Given the description of an element on the screen output the (x, y) to click on. 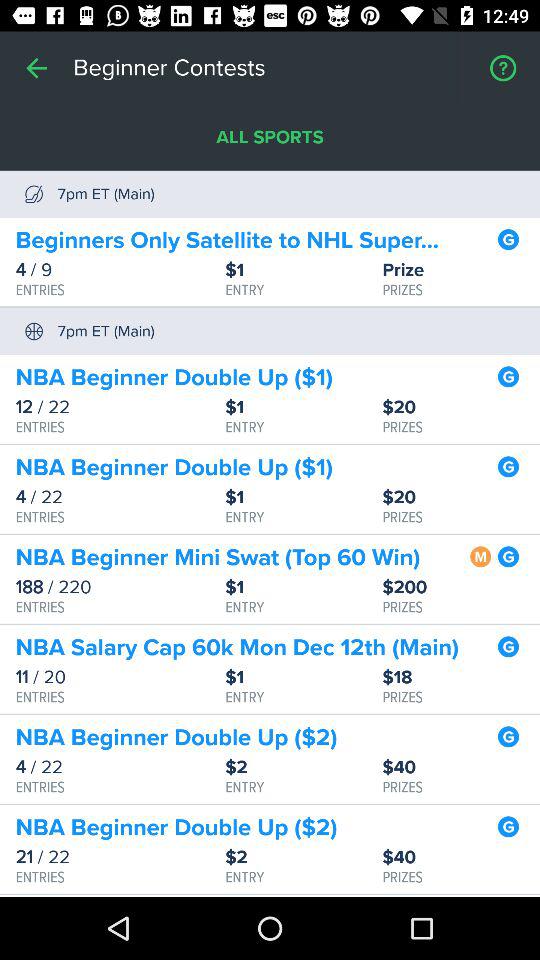
tap the item below the nba beginner mini item (461, 587)
